Given the description of an element on the screen output the (x, y) to click on. 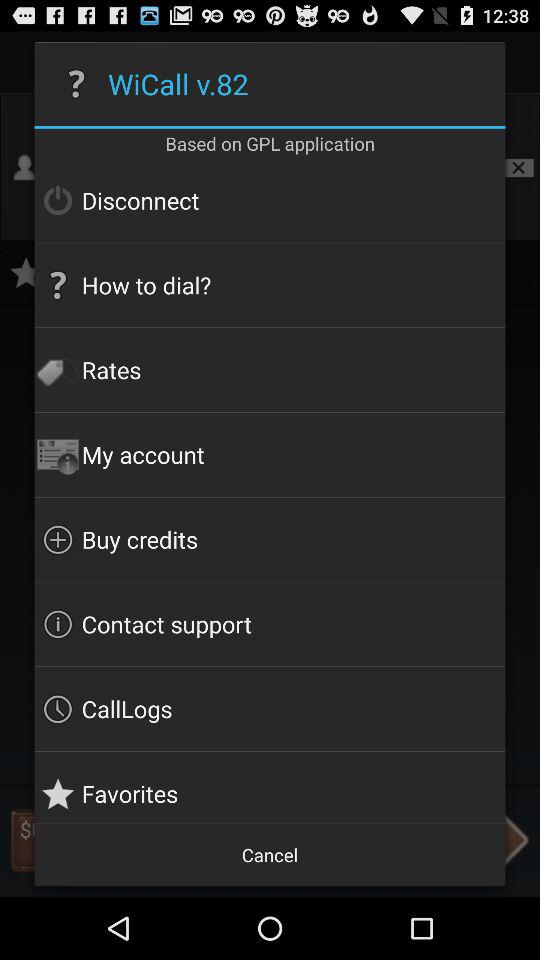
press the cancel item (269, 854)
